Given the description of an element on the screen output the (x, y) to click on. 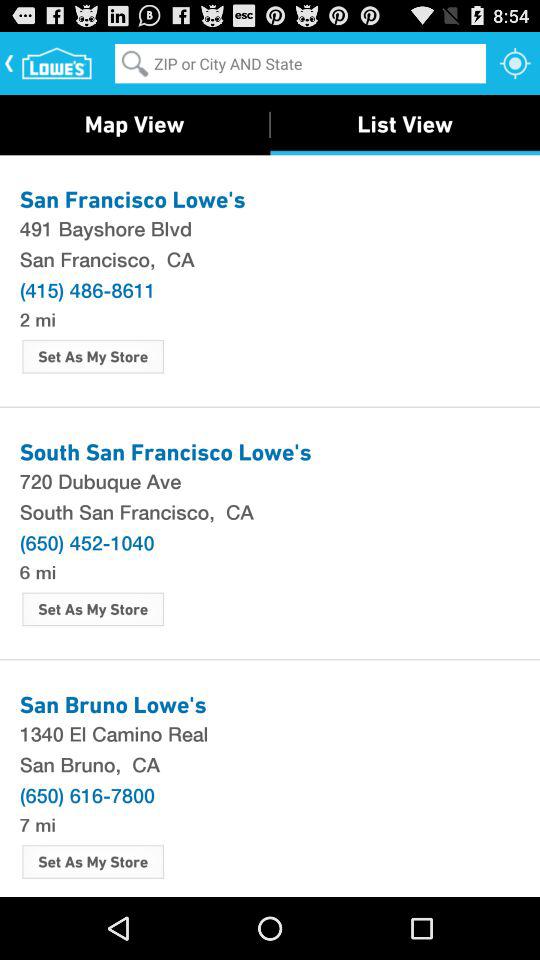
select the item above the set as my (37, 318)
